Given the description of an element on the screen output the (x, y) to click on. 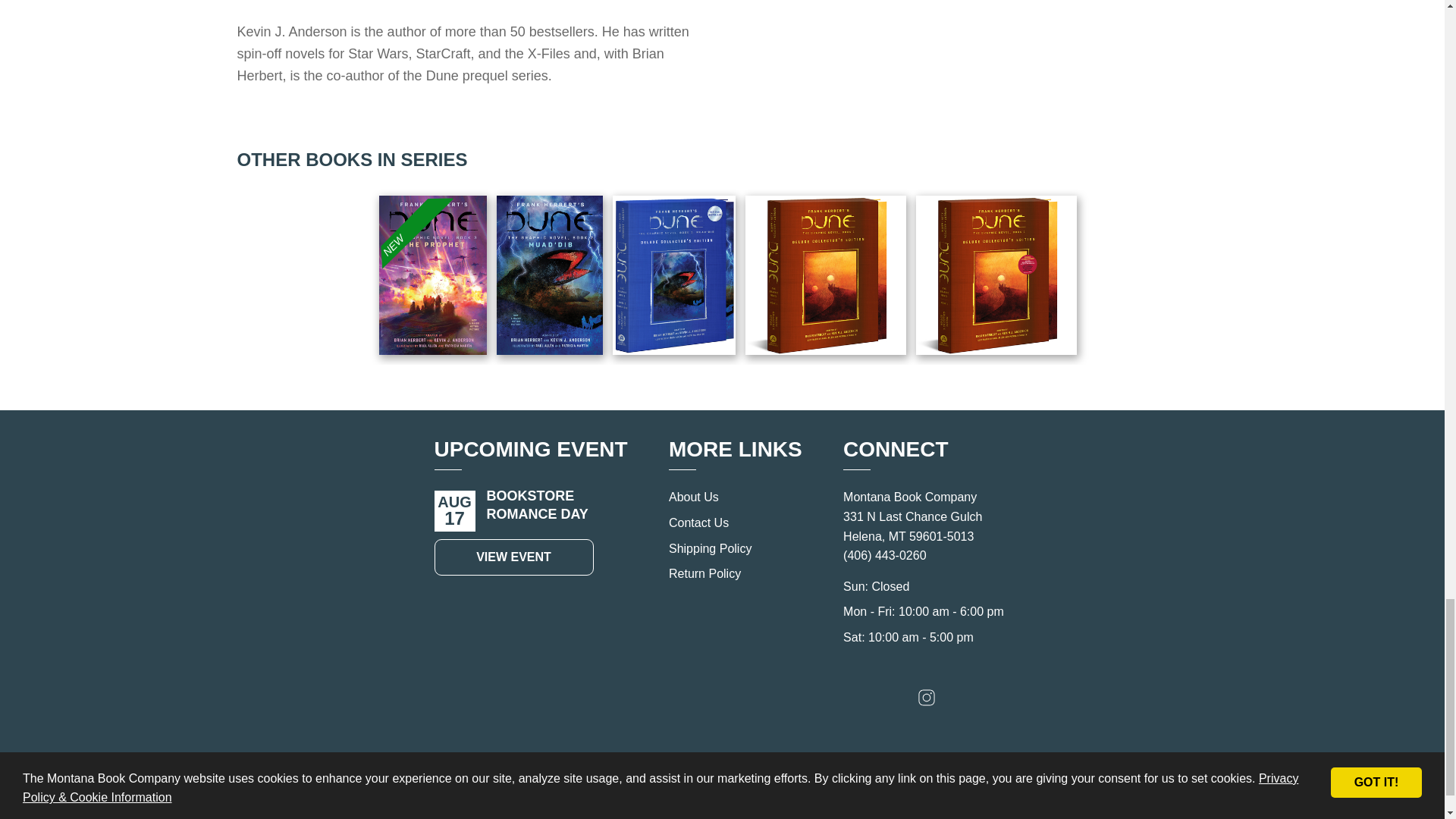
Connect with Instagram (926, 701)
